Given the description of an element on the screen output the (x, y) to click on. 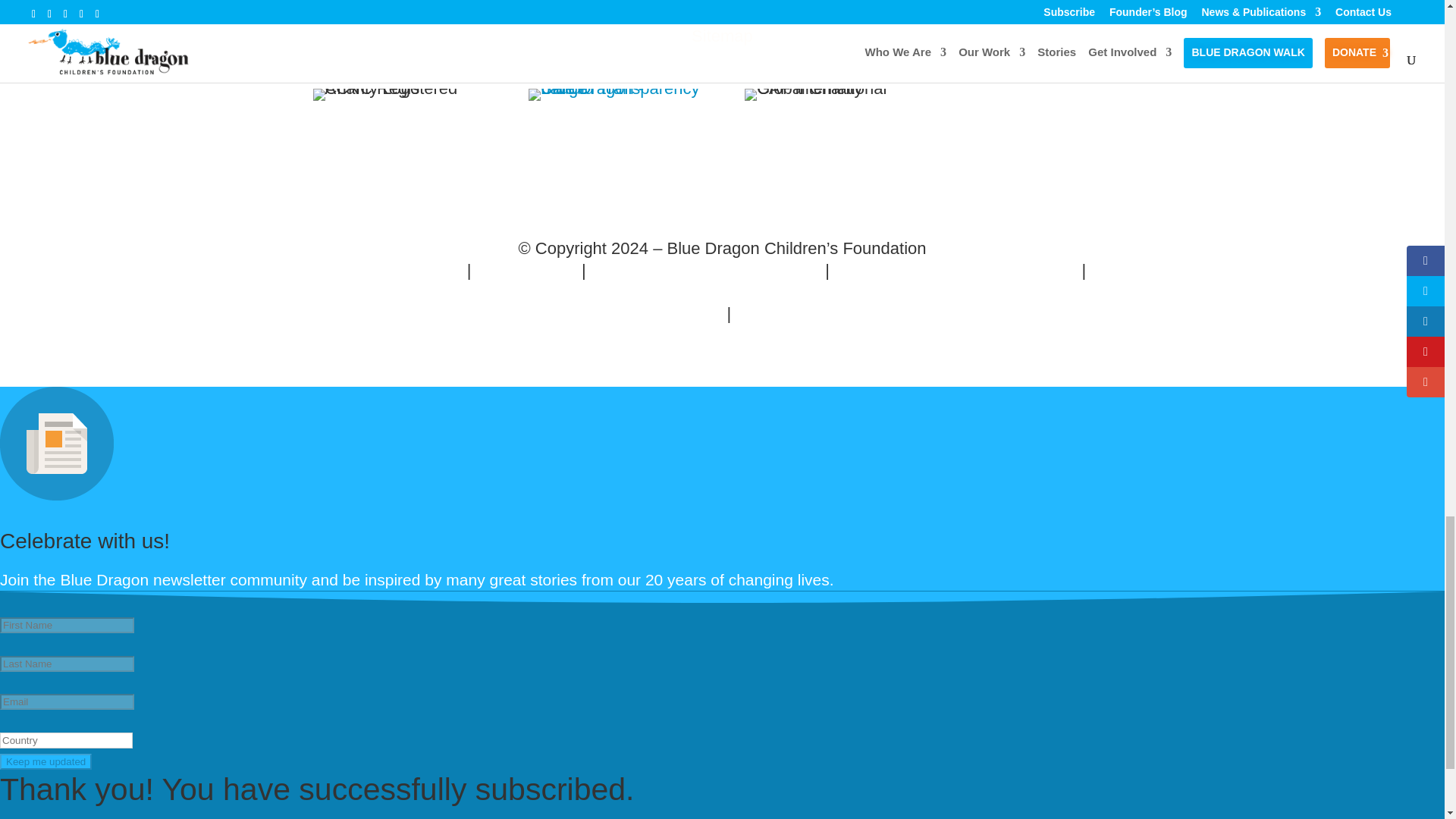
Follow on Twitter (398, 20)
Follow on Youtube (434, 20)
Follow on LinkedIn (470, 20)
profile-platinum2024-seal-resized-1 (613, 94)
Follow on Instagram (505, 20)
Follow on Facebook (362, 20)
ACNC Registered Charity Logo (398, 94)
